Given the description of an element on the screen output the (x, y) to click on. 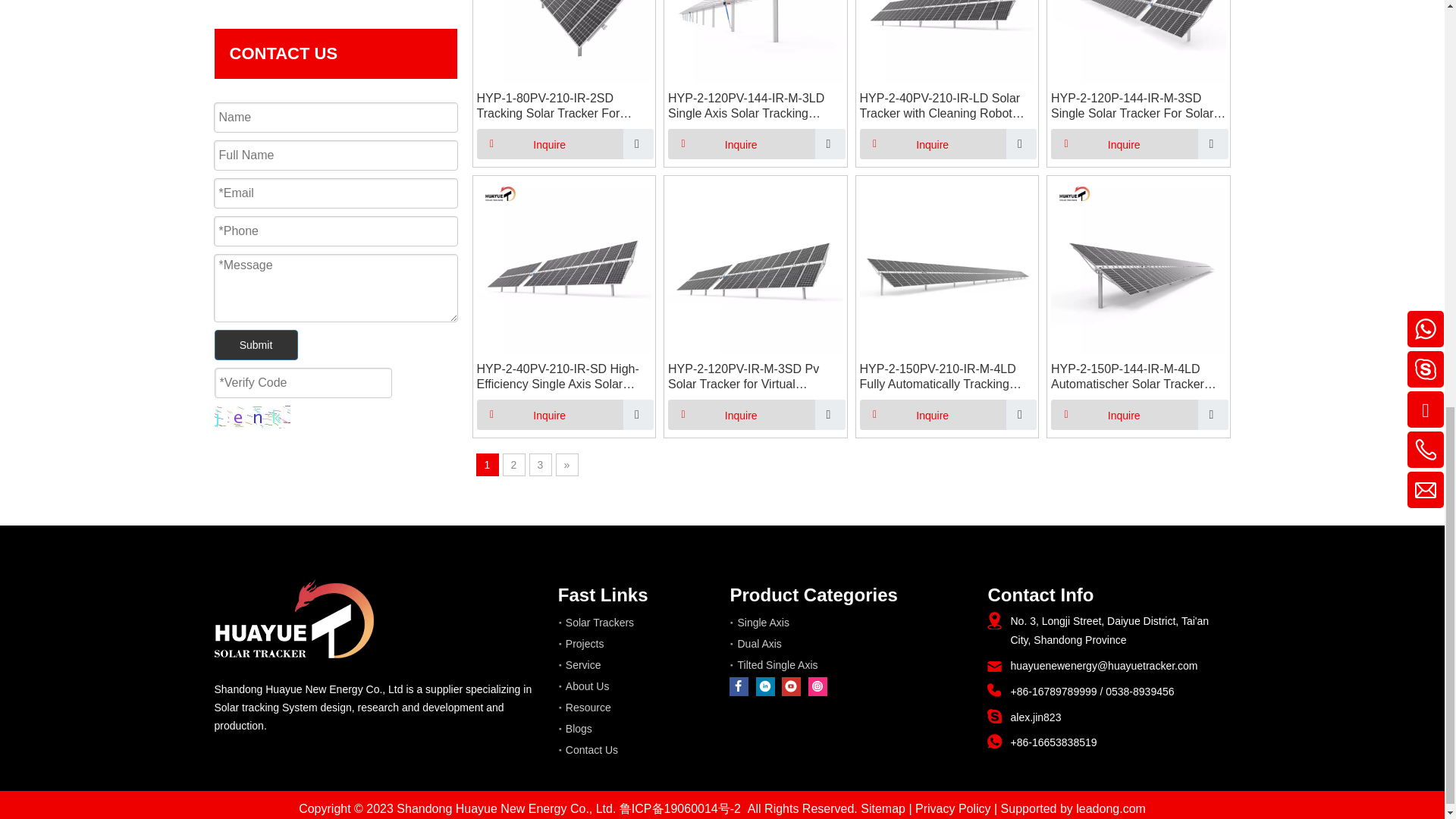
HYP-2-120P-144-IR-M-3SD Single Solar Tracker For Solar Farm (1138, 105)
HYP-2-120PV-144-IR-M-3LD Single Axis Solar Tracking System (755, 105)
